Given the description of an element on the screen output the (x, y) to click on. 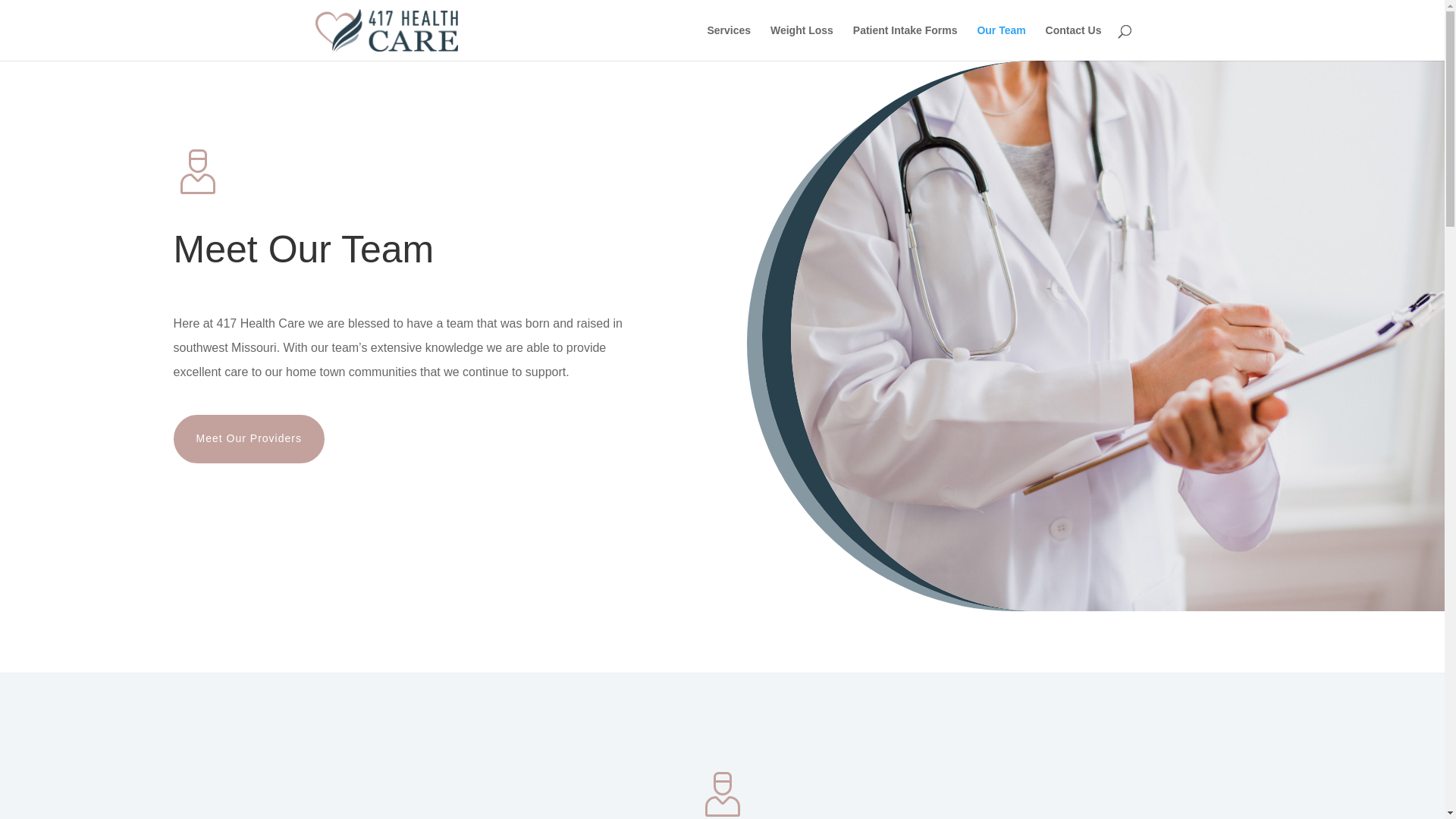
Our Team Element type: text (1000, 42)
Weight Loss Element type: text (801, 42)
Contact Us Element type: text (1073, 42)
Services Element type: text (728, 42)
Meet Our Providers Element type: text (248, 438)
Patient Intake Forms Element type: text (905, 42)
